Given the description of an element on the screen output the (x, y) to click on. 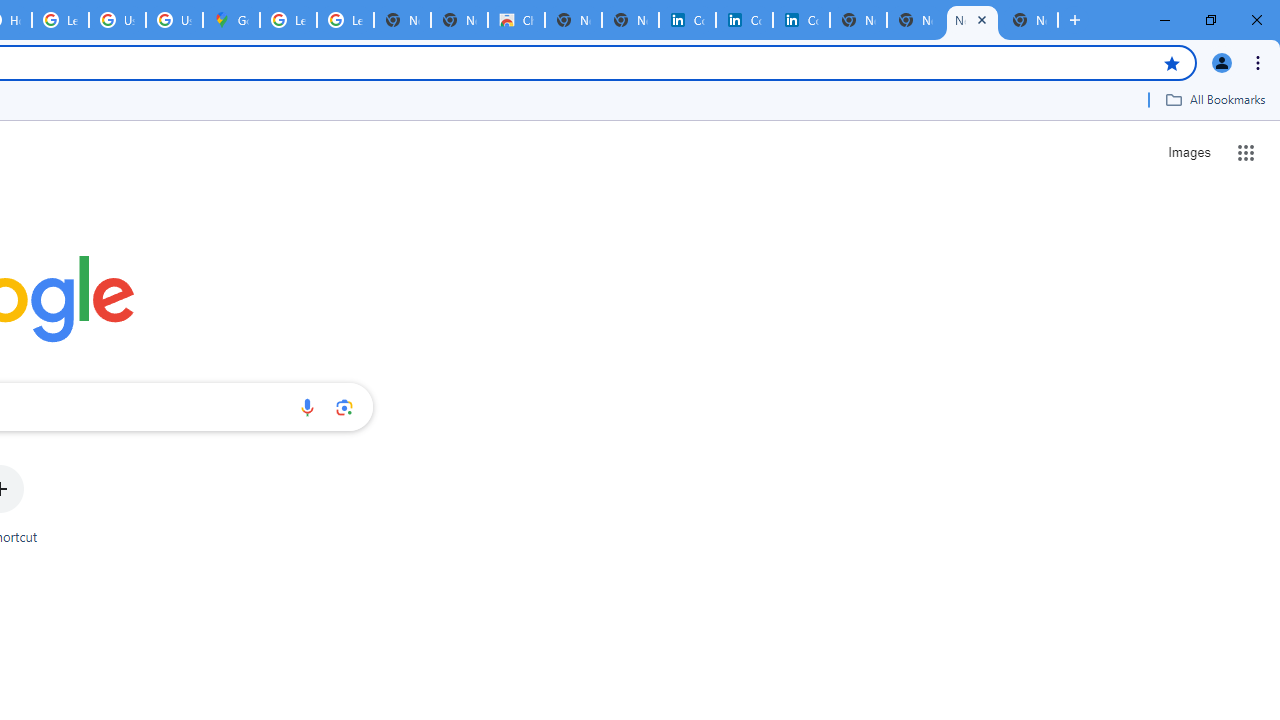
Google Maps (231, 20)
Bookmark this tab (1171, 62)
Search by image (344, 407)
Cookie Policy | LinkedIn (687, 20)
Chrome Web Store (516, 20)
New Tab (1075, 20)
You (1221, 62)
Chrome (1260, 62)
Cookie Policy | LinkedIn (744, 20)
Search for Images  (1188, 152)
Google apps (1245, 152)
Copyright Policy (801, 20)
